Given the description of an element on the screen output the (x, y) to click on. 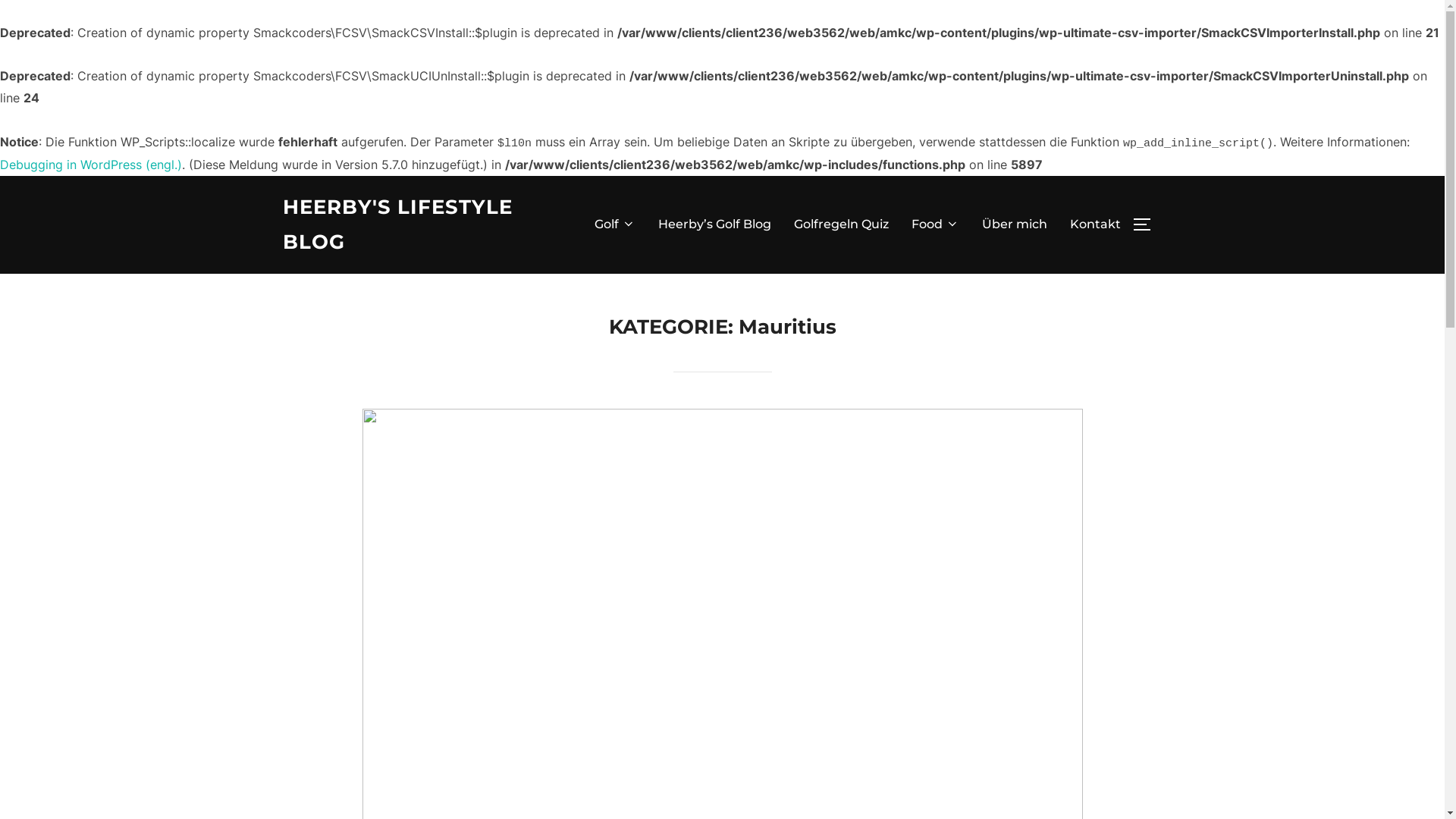
Kontakt Element type: text (1094, 224)
Golf Element type: text (614, 224)
HEERBY'S LIFESTYLE BLOG Element type: text (414, 224)
Food Element type: text (935, 224)
SEITENLEISTE & NAVIGATION UMSCHALTEN Element type: text (1146, 224)
Debugging in WordPress (engl.) Element type: text (91, 164)
Golfregeln Quiz Element type: text (840, 224)
